Given the description of an element on the screen output the (x, y) to click on. 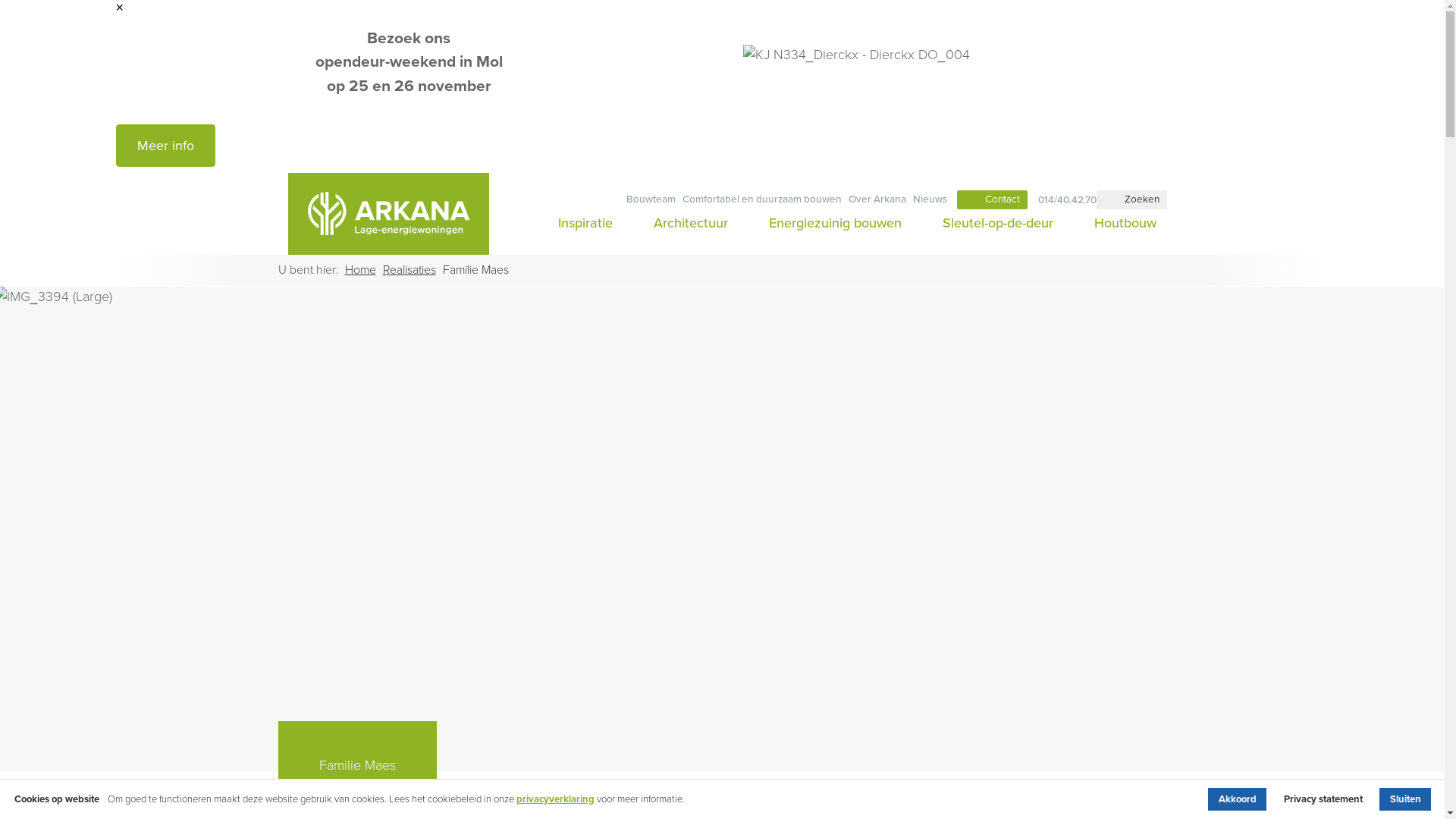
Sleutel-op-de-deur Element type: text (997, 223)
Energiezuinig bouwen Element type: text (834, 223)
Home Element type: text (359, 270)
Familie Maes Element type: text (475, 270)
Akkoord Element type: text (1237, 798)
Architectuur Element type: text (690, 223)
Sluiten Element type: text (1404, 798)
Privacy statement Element type: text (1322, 798)
Houtbouw Element type: text (1120, 223)
privacyverklaring Element type: text (555, 799)
Contact Element type: text (992, 200)
Inspiratie Element type: text (584, 223)
Comfortabel en duurzaam bouwen Element type: text (761, 199)
Nieuws Element type: text (929, 199)
Arkana Element type: hover (388, 213)
Bouwteam Element type: text (650, 199)
Over Arkana Element type: text (876, 199)
Meer info Element type: text (164, 145)
Realisaties Element type: text (408, 270)
Zoeken Element type: text (1131, 200)
014/40.42.70 Element type: text (1061, 199)
